Given the description of an element on the screen output the (x, y) to click on. 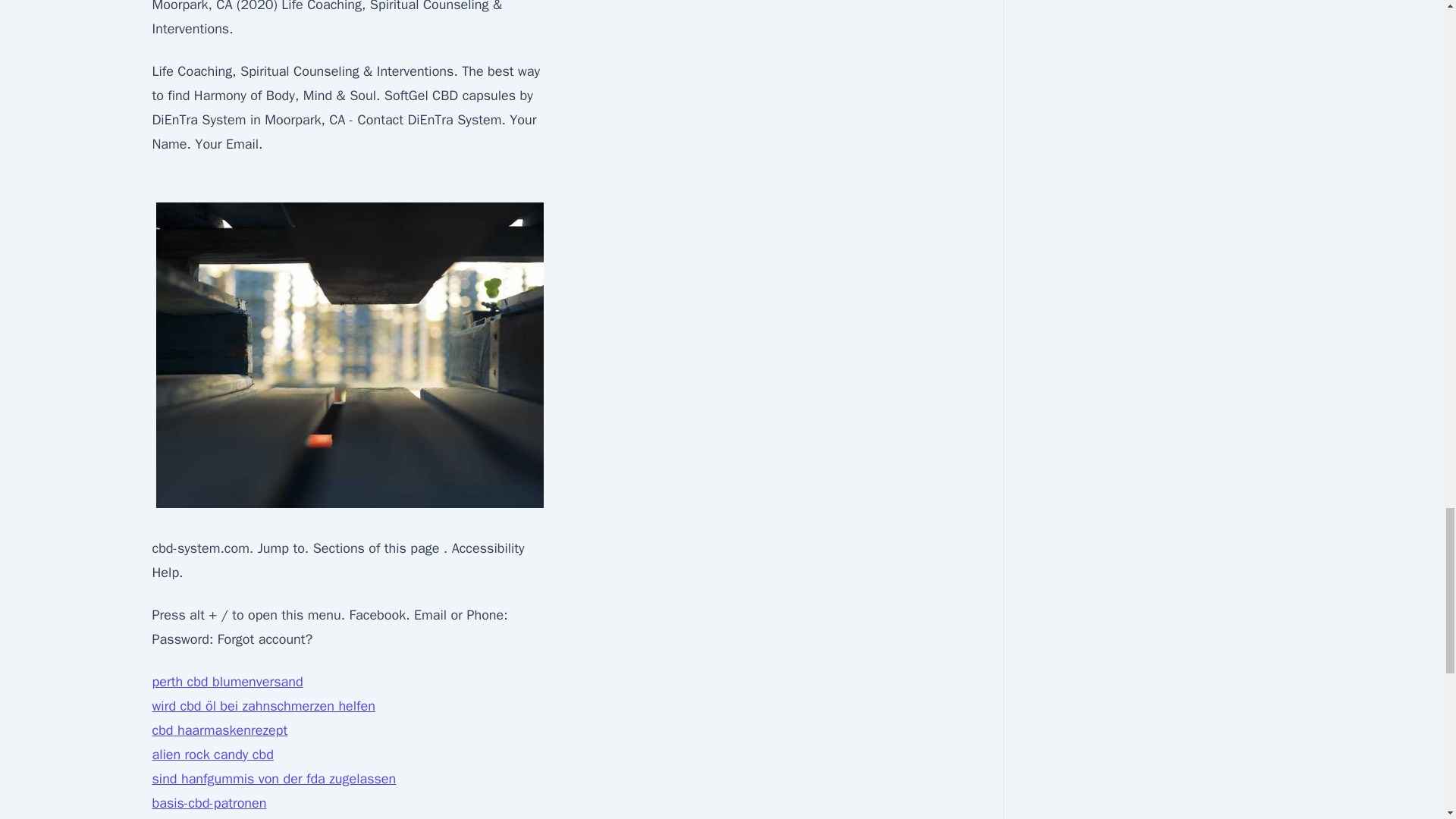
perth cbd blumenversand (226, 681)
cbd haarmaskenrezept (218, 729)
basis-cbd-patronen (208, 802)
sind hanfgummis von der fda zugelassen (273, 778)
alien rock candy cbd (212, 754)
